Given the description of an element on the screen output the (x, y) to click on. 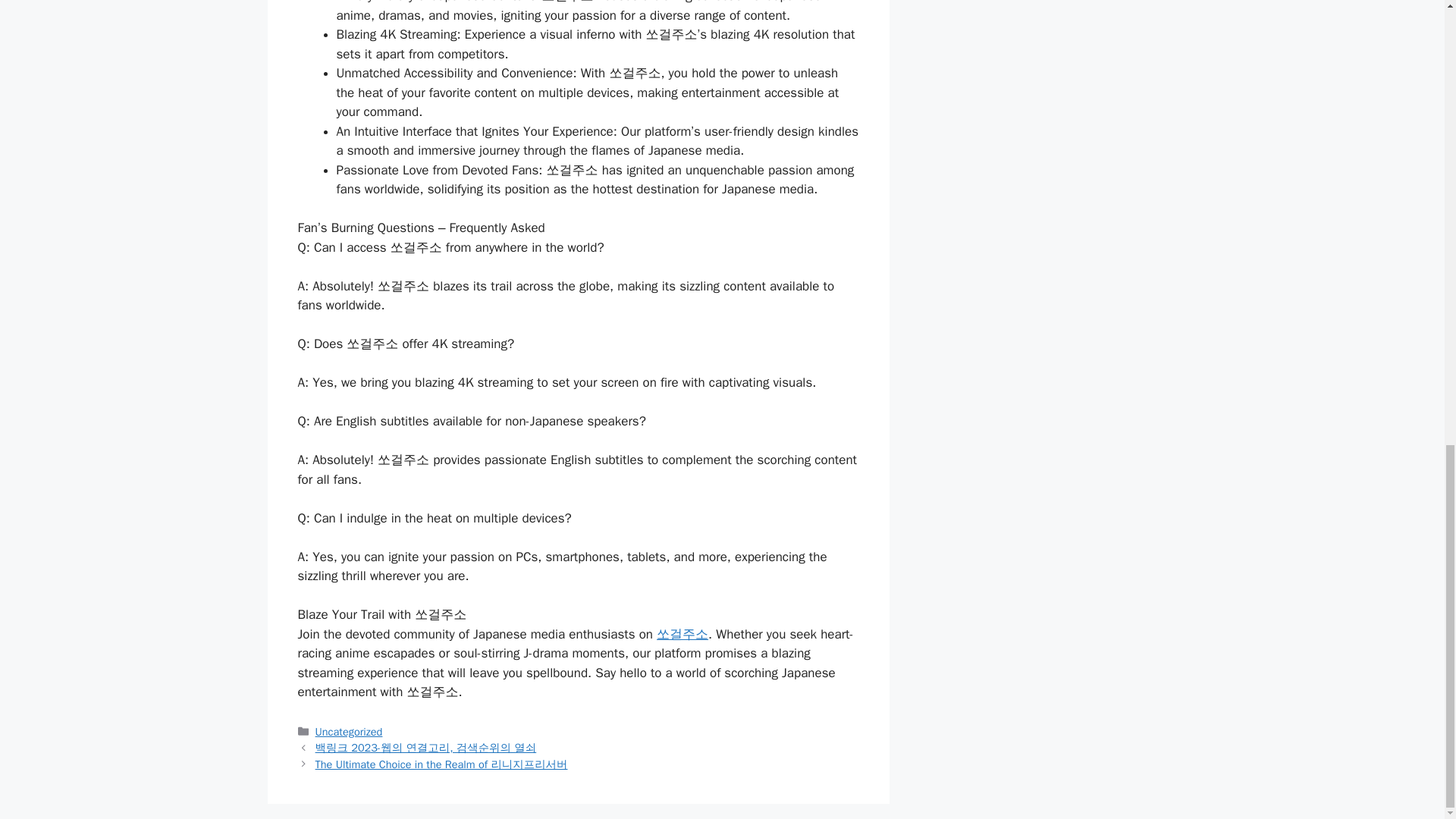
Uncategorized (348, 731)
